Given the description of an element on the screen output the (x, y) to click on. 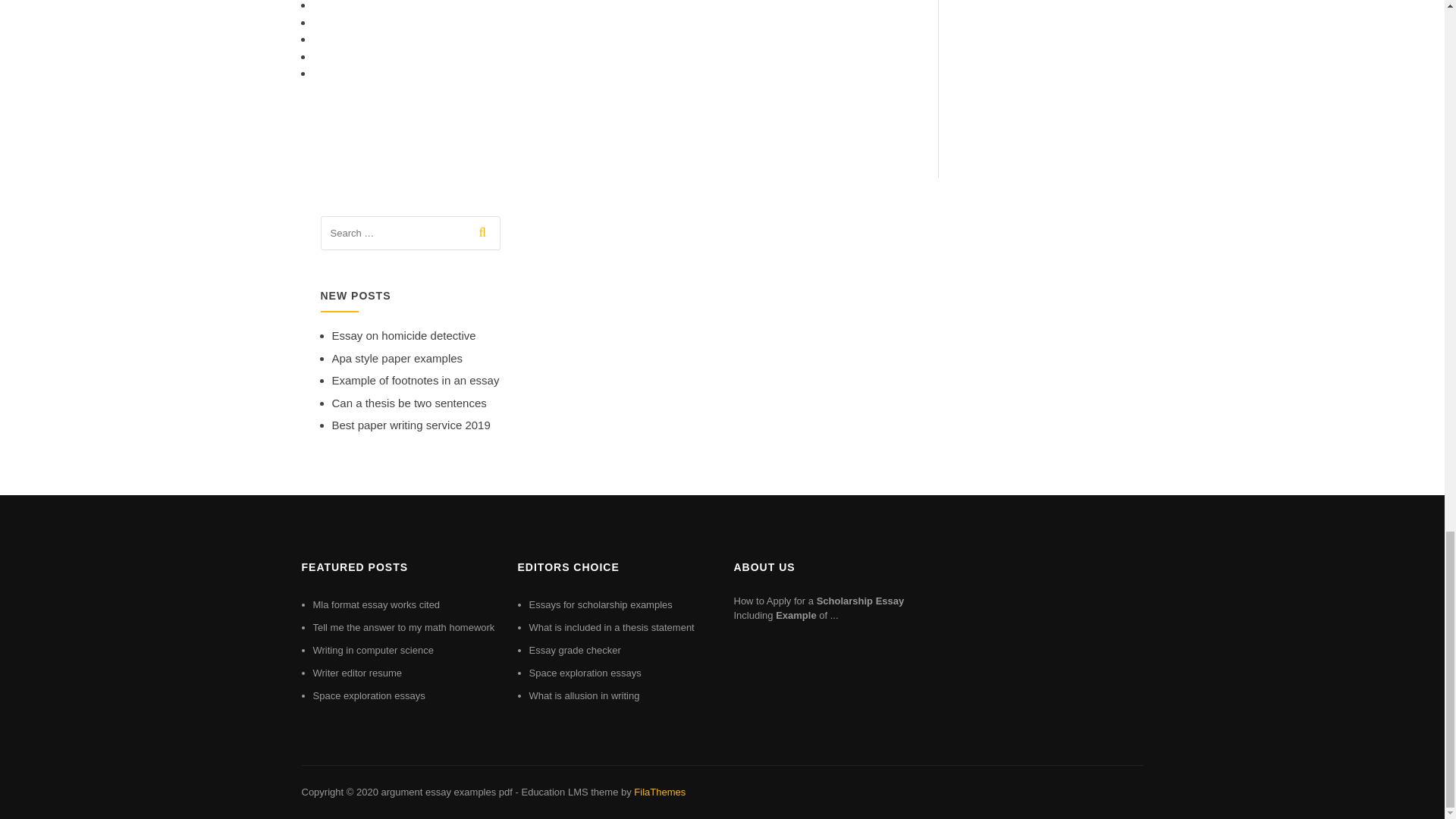
Essay on homicide detective (403, 335)
Apa style paper examples (397, 358)
Can a thesis be two sentences (408, 402)
Writer editor resume (357, 672)
Writing in computer science (372, 650)
argument essay examples pdf (446, 791)
Tell me the answer to my math homework (404, 627)
What is allusion in writing (584, 695)
argument essay examples pdf (446, 791)
Essay grade checker (575, 650)
Example of footnotes in an essay (415, 379)
Mla format essay works cited (376, 604)
Space exploration essays (585, 672)
Space exploration essays (369, 695)
What is included in a thesis statement (611, 627)
